Given the description of an element on the screen output the (x, y) to click on. 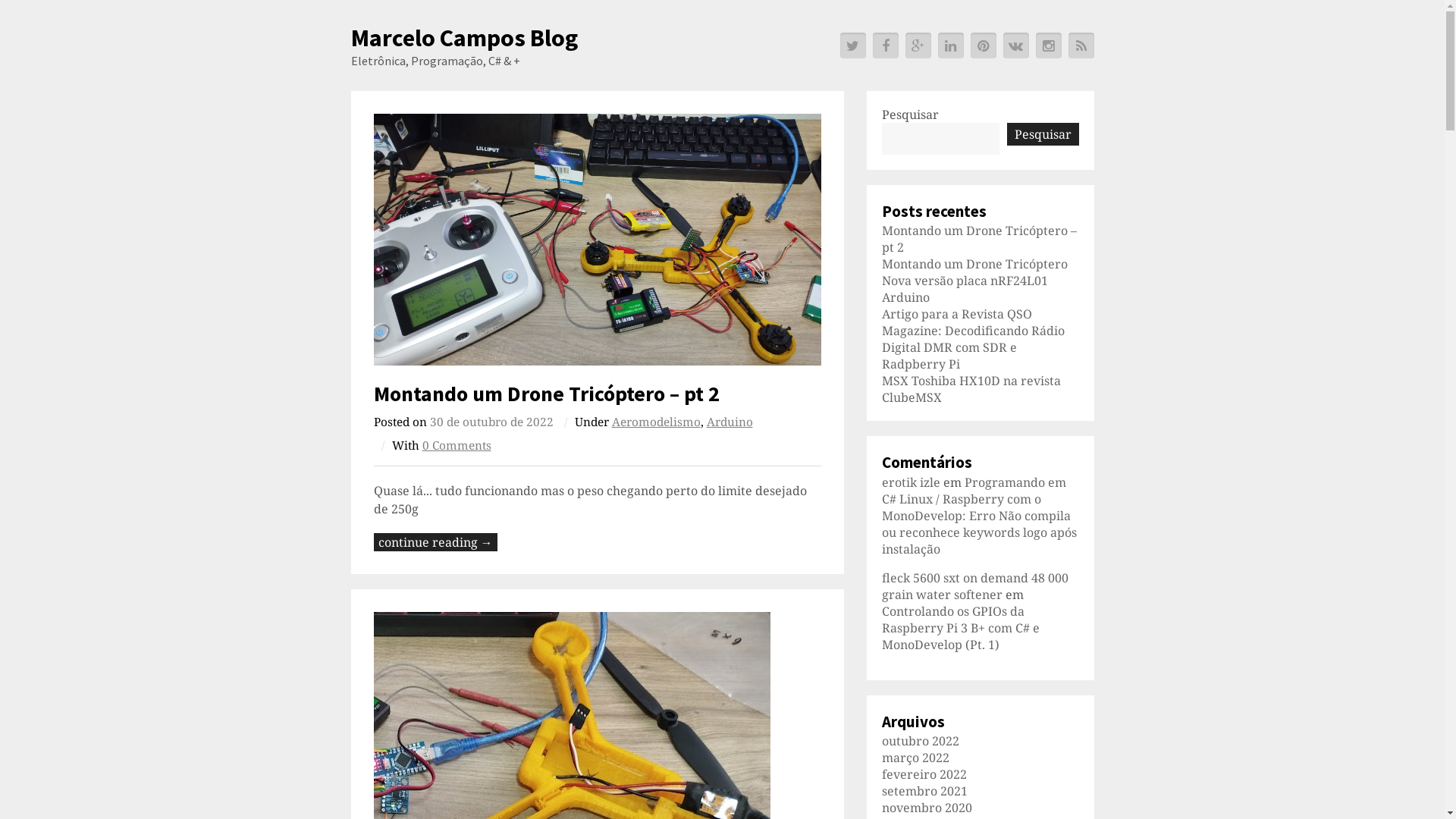
0 Comments Element type: text (455, 445)
Twitter Element type: text (853, 45)
Linkedin Element type: text (950, 45)
MSX Toshiba HX10D na revista ClubeMSX Element type: text (970, 388)
fevereiro 2022 Element type: text (923, 773)
Pesquisar Element type: text (1043, 133)
setembro 2021 Element type: text (923, 790)
Marcelo Campos Blog Element type: text (463, 37)
Vk Element type: text (1015, 45)
Arduino Element type: text (729, 421)
Pinterest Element type: text (983, 45)
Instagram Element type: text (1048, 45)
Aeromodelismo Element type: text (655, 421)
outubro 2022 Element type: text (919, 740)
Facebook Element type: text (884, 45)
novembro 2020 Element type: text (926, 807)
erotik izle Element type: text (910, 481)
Rss Element type: text (1080, 45)
Googleplus Element type: text (918, 45)
fleck 5600 sxt on demand 48 000 grain water softener Element type: text (974, 585)
